Given the description of an element on the screen output the (x, y) to click on. 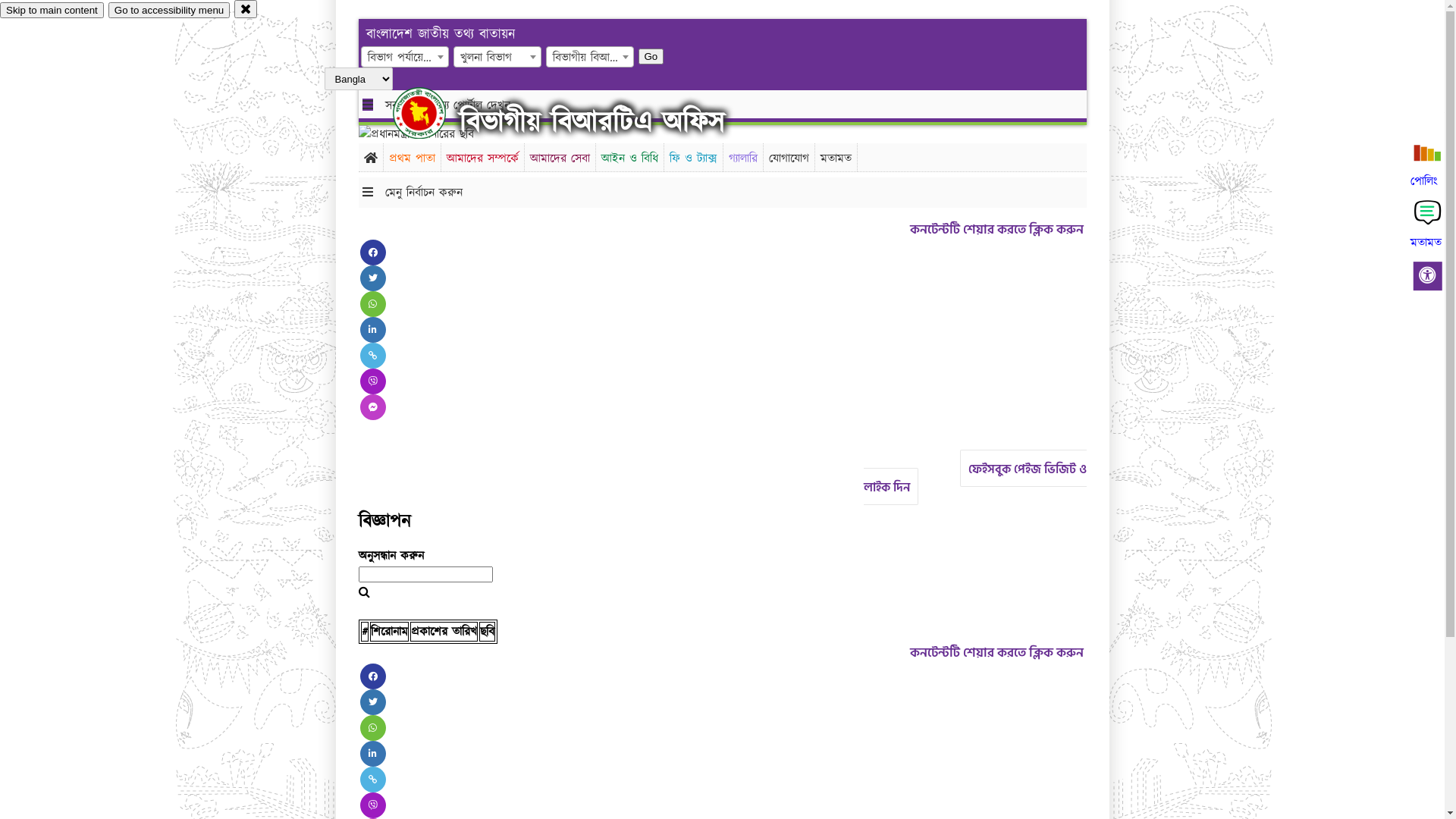
close Element type: hover (245, 9)
Go Element type: text (651, 56)
Skip to main content Element type: text (51, 10)
Go to accessibility menu Element type: text (168, 10)

                
             Element type: hover (431, 112)
